Given the description of an element on the screen output the (x, y) to click on. 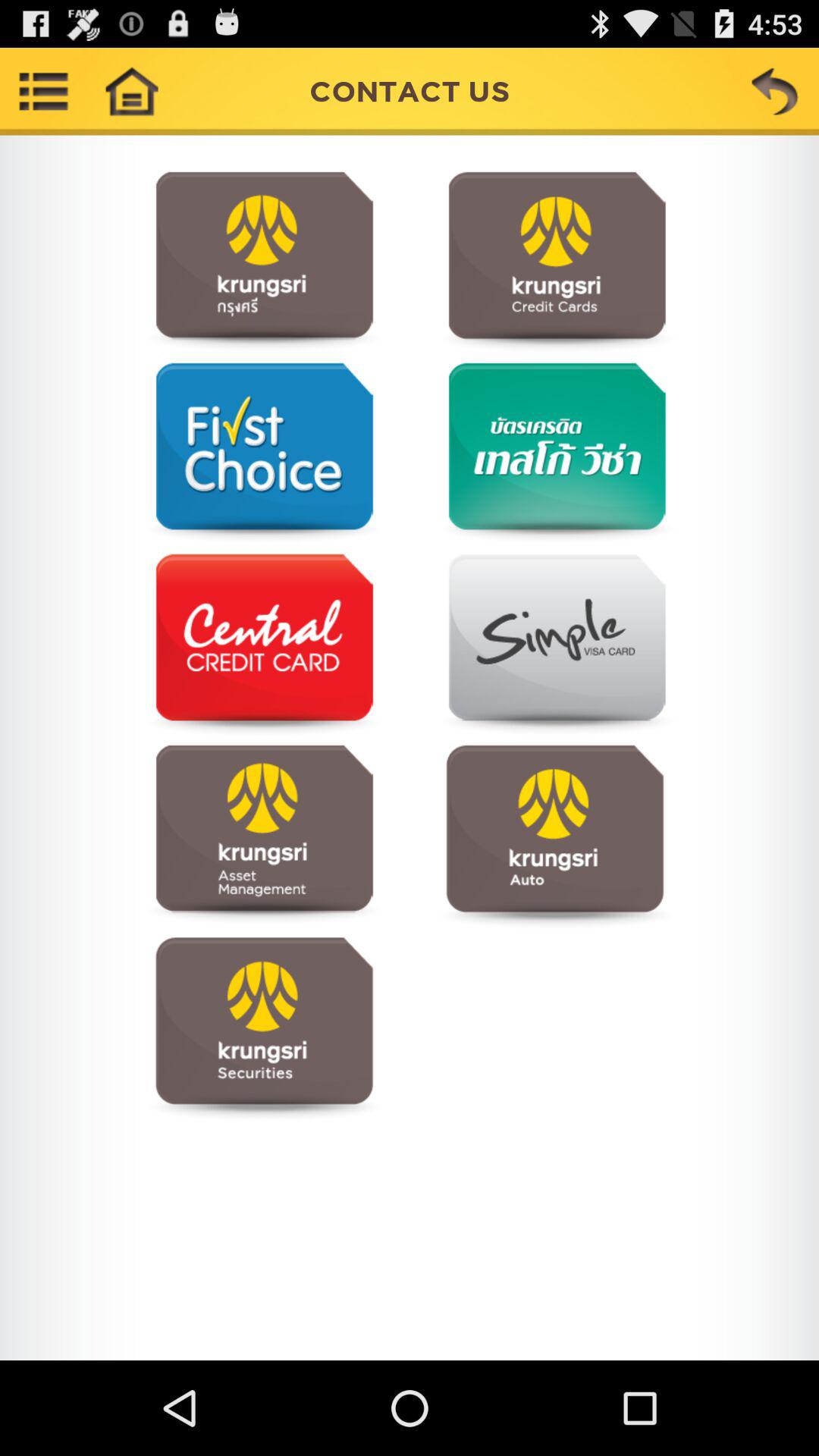
visit page (263, 1026)
